Given the description of an element on the screen output the (x, y) to click on. 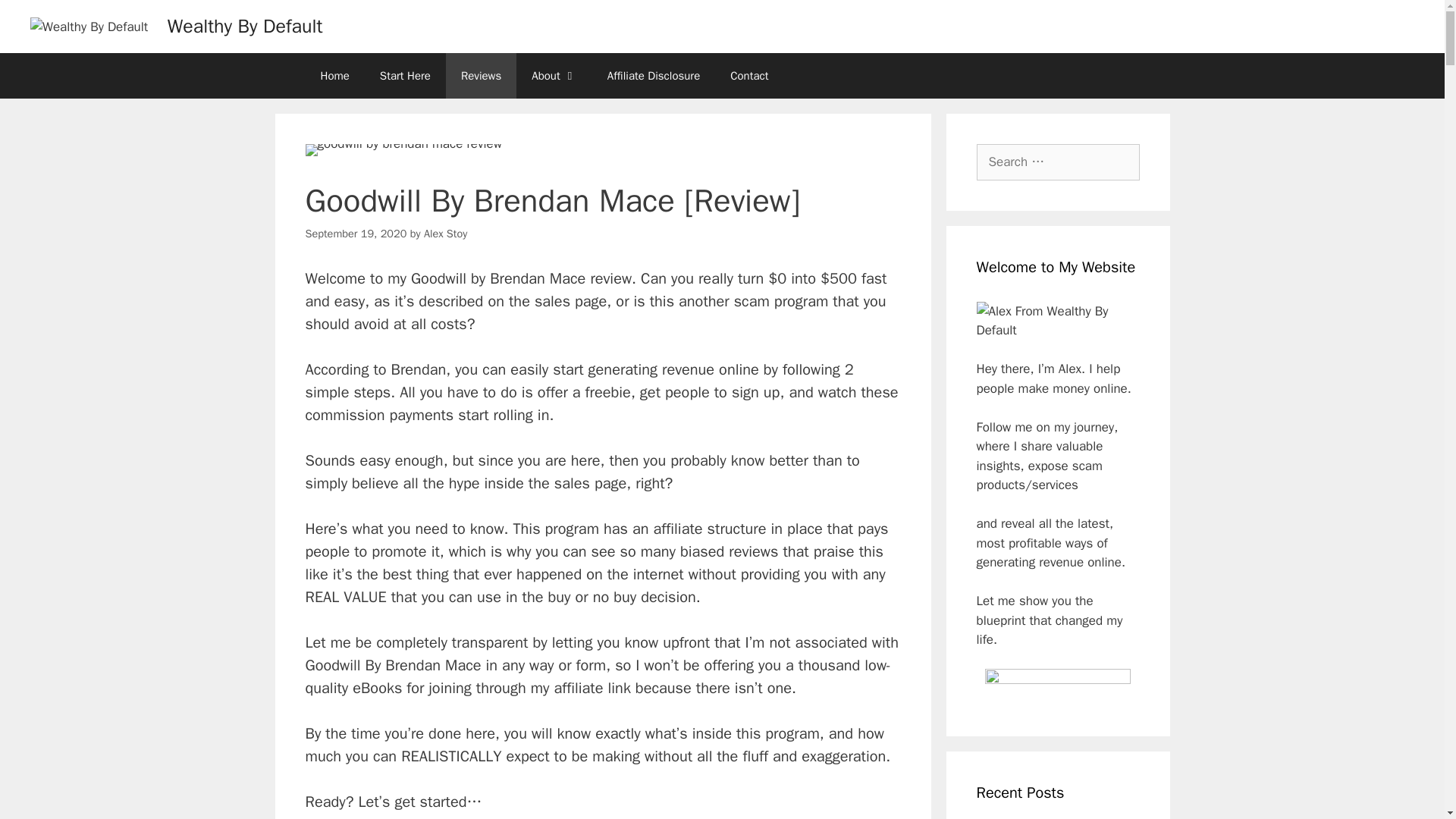
Search (35, 18)
Home (334, 75)
Affiliate Disclosure (654, 75)
Alex Stoy (445, 233)
Start Here (405, 75)
View all posts by Alex Stoy (445, 233)
Wealthy By Default (245, 25)
About (553, 75)
Search for: (1058, 162)
Contact (748, 75)
